Given the description of an element on the screen output the (x, y) to click on. 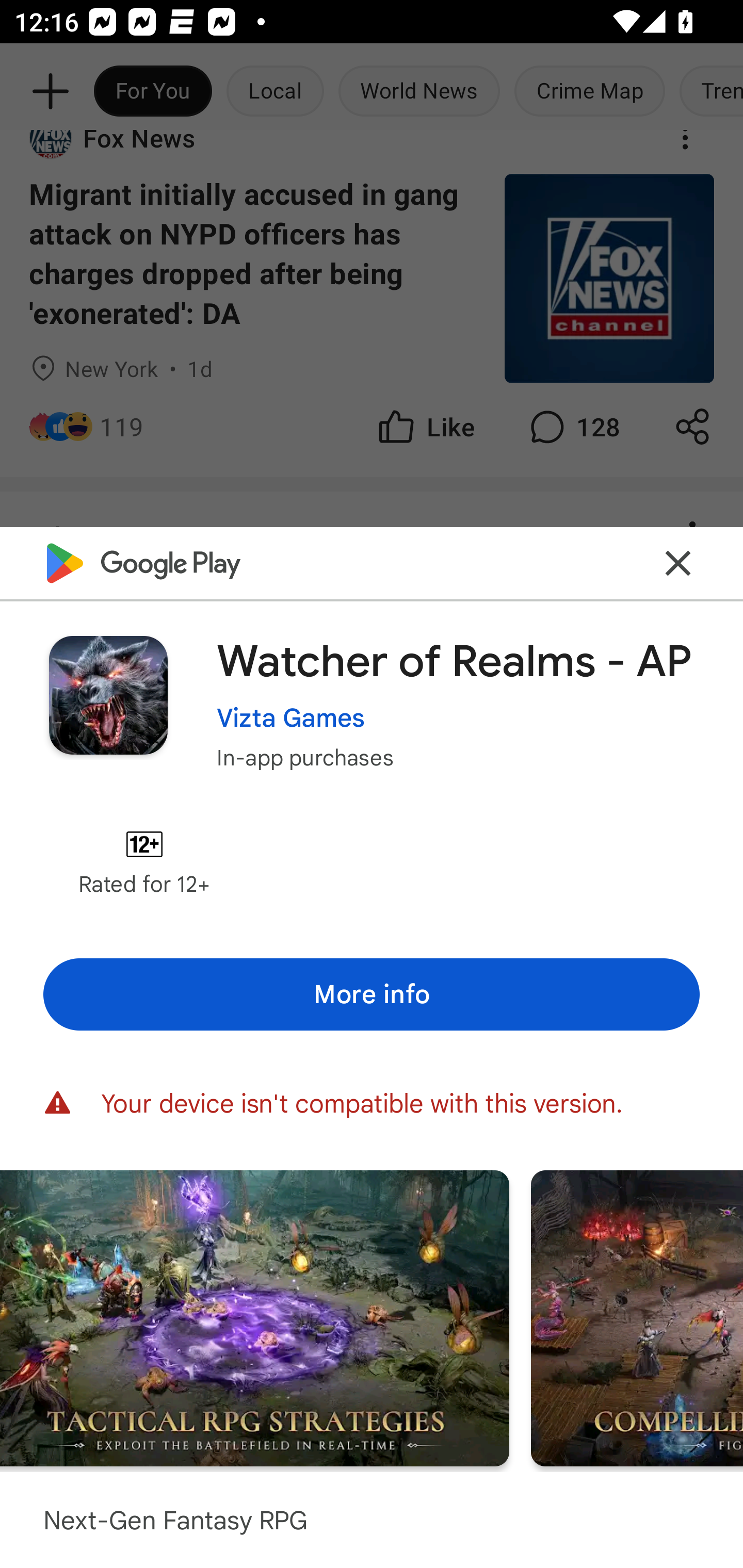
Close (677, 562)
Vizta Games (290, 716)
More info (371, 994)
Screenshot "3" of "7" (254, 1317)
Screenshot "4" of "7" (637, 1317)
